Given the description of an element on the screen output the (x, y) to click on. 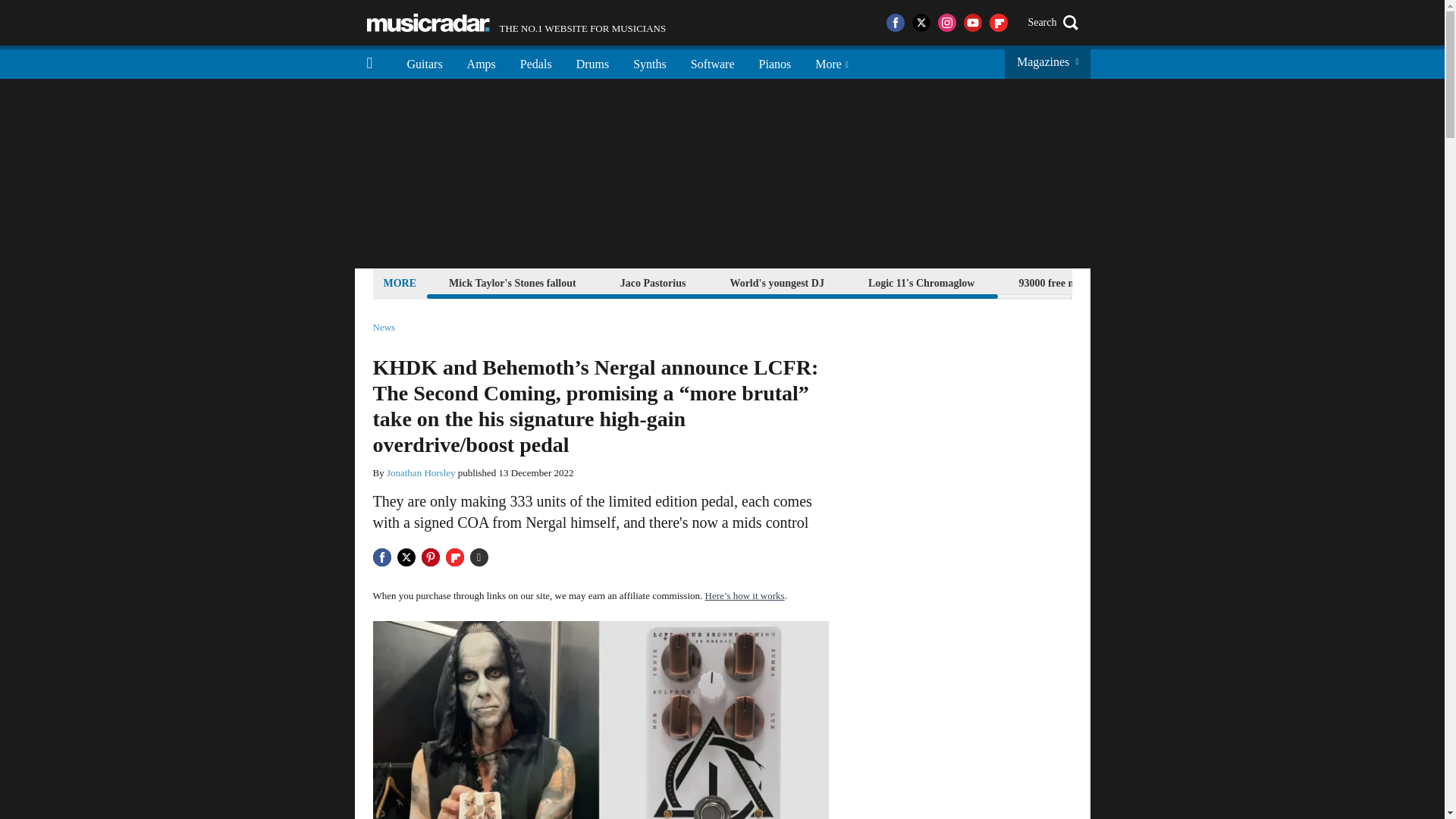
Guitars (424, 61)
Mick Taylor's Stones fallout (512, 282)
Logic 11's Chromaglow (921, 282)
Amps (481, 61)
Synths (649, 61)
Software (712, 61)
Pianos (774, 61)
93000 free music samples (1075, 282)
Drums (592, 61)
World's youngest DJ (775, 282)
Pedals (536, 61)
Jaco Pastorius (652, 282)
Music Radar (516, 22)
